Given the description of an element on the screen output the (x, y) to click on. 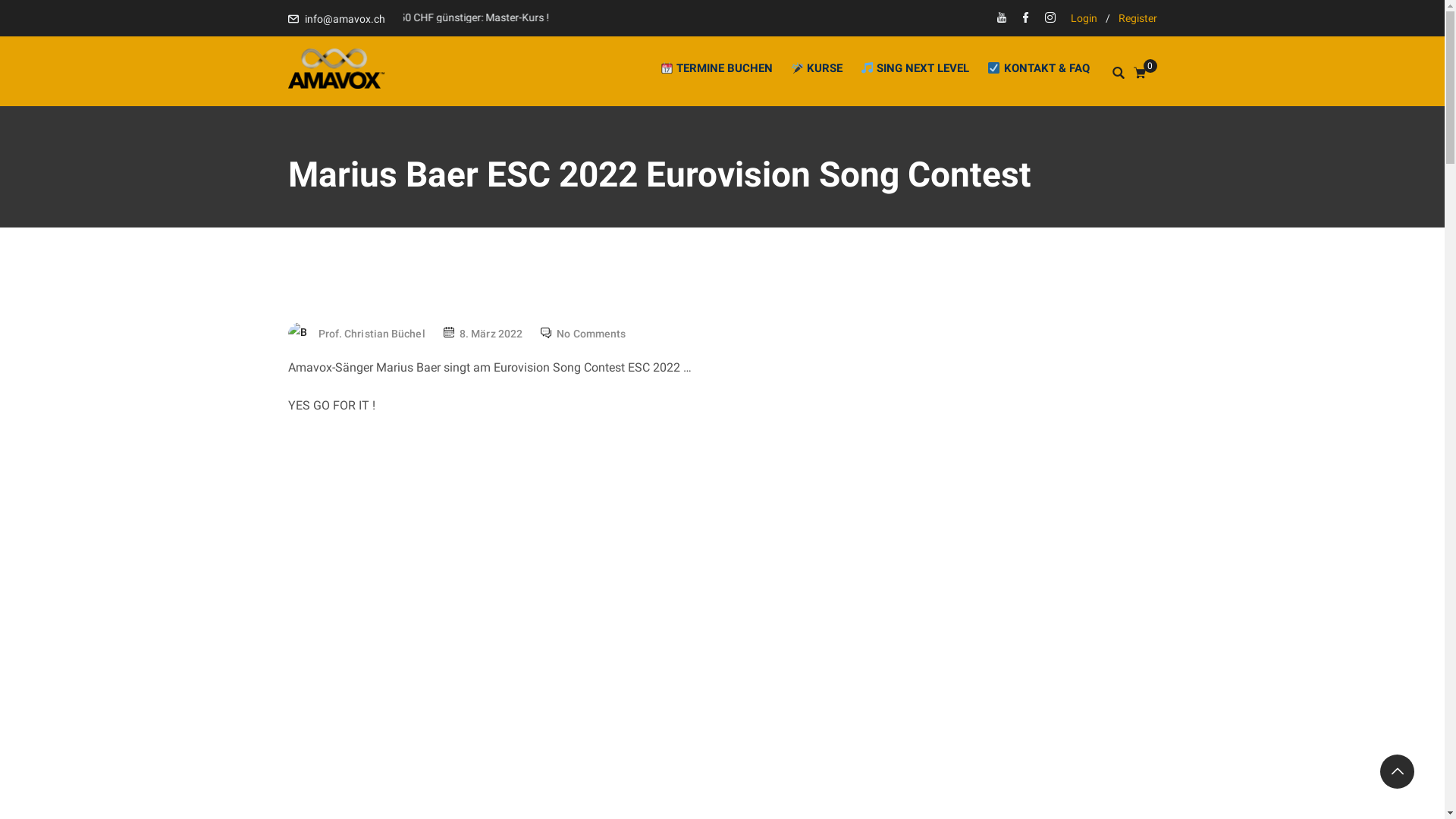
No Comments Element type: text (590, 333)
Insta Element type: hover (1049, 18)
Youtube Element type: hover (1001, 18)
TERMINE BUCHEN Element type: text (716, 68)
KURSE Element type: text (816, 68)
KONTAKT & FAQ Element type: text (1033, 68)
SING NEXT LEVEL Element type: text (914, 68)
info@amavox.ch Element type: text (344, 18)
Login Element type: text (1083, 17)
Facebook Element type: hover (1025, 18)
Register Element type: text (1136, 17)
0 Element type: text (1144, 74)
